Given the description of an element on the screen output the (x, y) to click on. 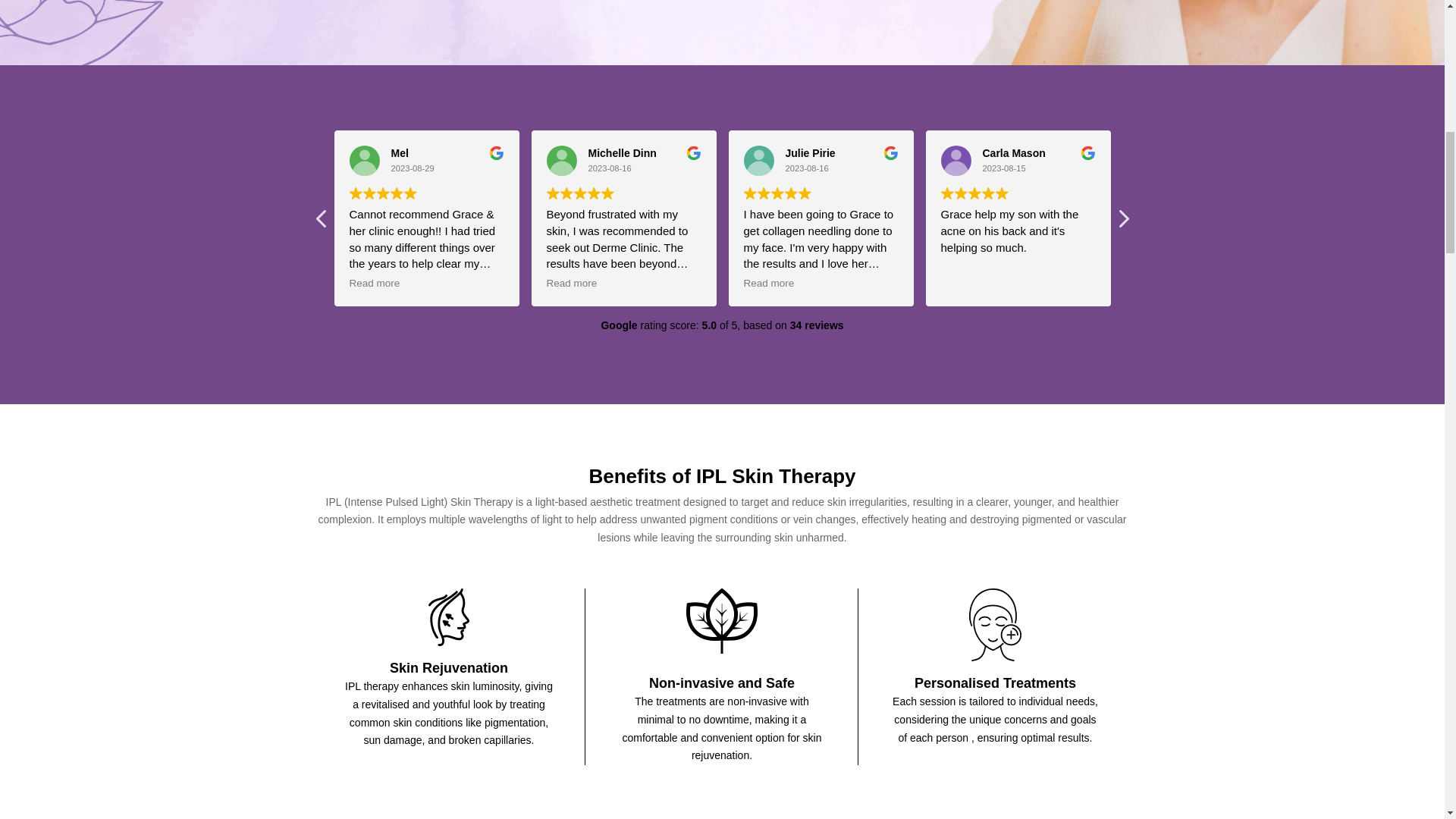
icon (721, 624)
